Given the description of an element on the screen output the (x, y) to click on. 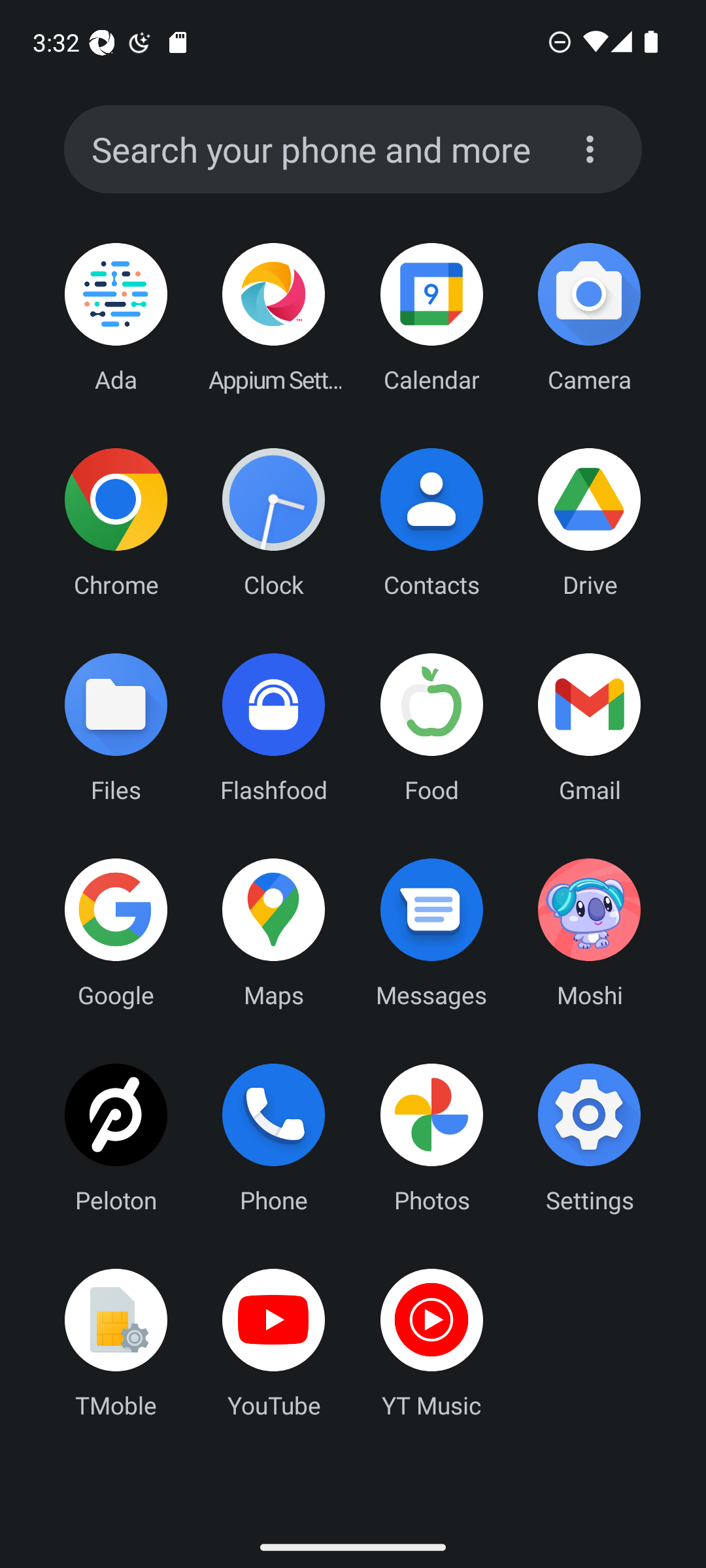
Search your phone and more (318, 149)
Preferences (589, 149)
Ada (115, 317)
Appium Settings (273, 317)
Calendar (431, 317)
Camera (589, 317)
Chrome (115, 522)
Clock (273, 522)
Contacts (431, 522)
Drive (589, 522)
Files (115, 726)
Flashfood (273, 726)
Food (431, 726)
Gmail (589, 726)
Google (115, 931)
Maps (273, 931)
Messages (431, 931)
Moshi (589, 931)
Peloton (115, 1137)
Phone (273, 1137)
Photos (431, 1137)
Settings (589, 1137)
TMoble (115, 1342)
YouTube (273, 1342)
YT Music (431, 1342)
